Given the description of an element on the screen output the (x, y) to click on. 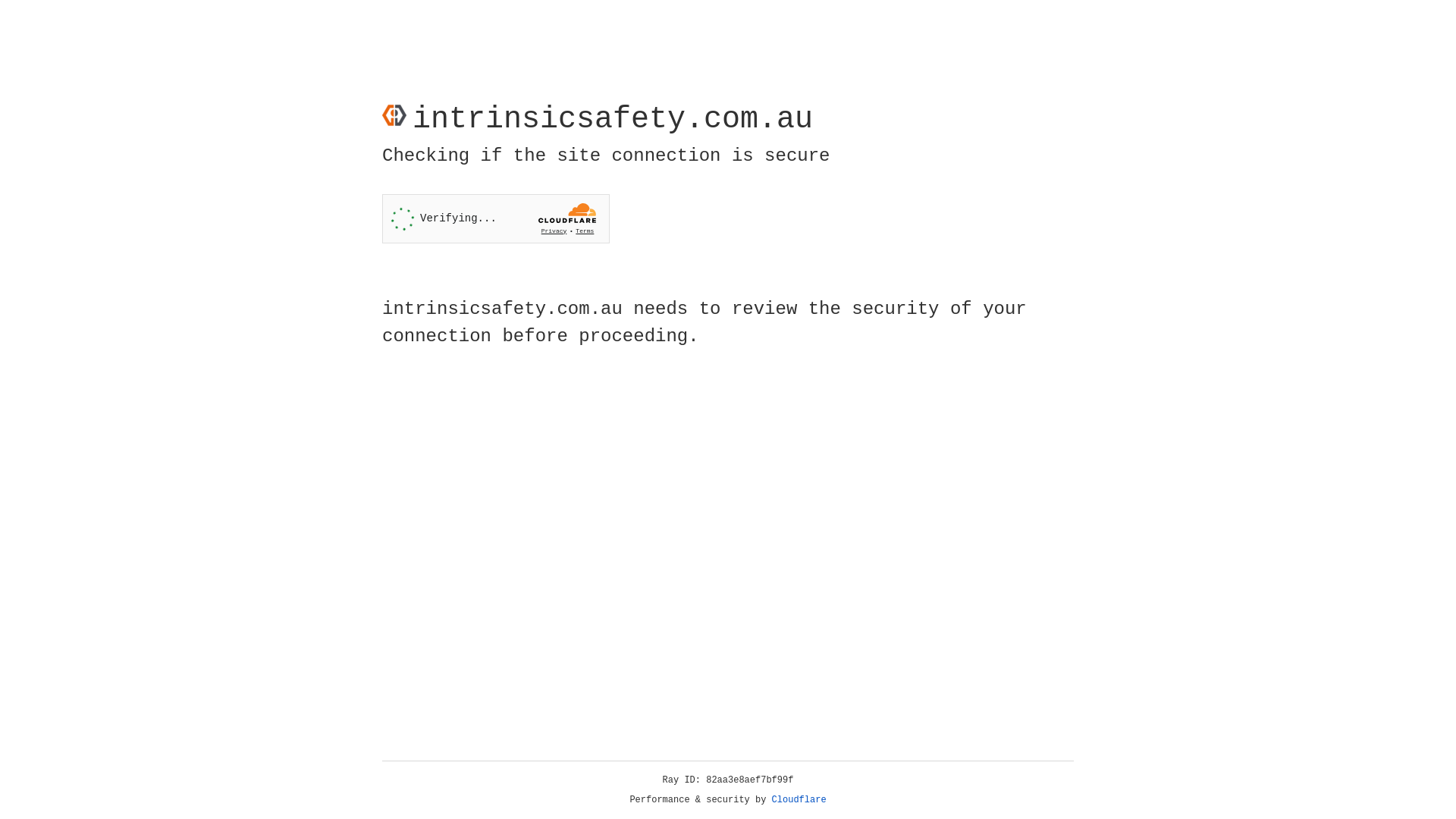
Cloudflare Element type: text (798, 799)
Widget containing a Cloudflare security challenge Element type: hover (495, 218)
